Given the description of an element on the screen output the (x, y) to click on. 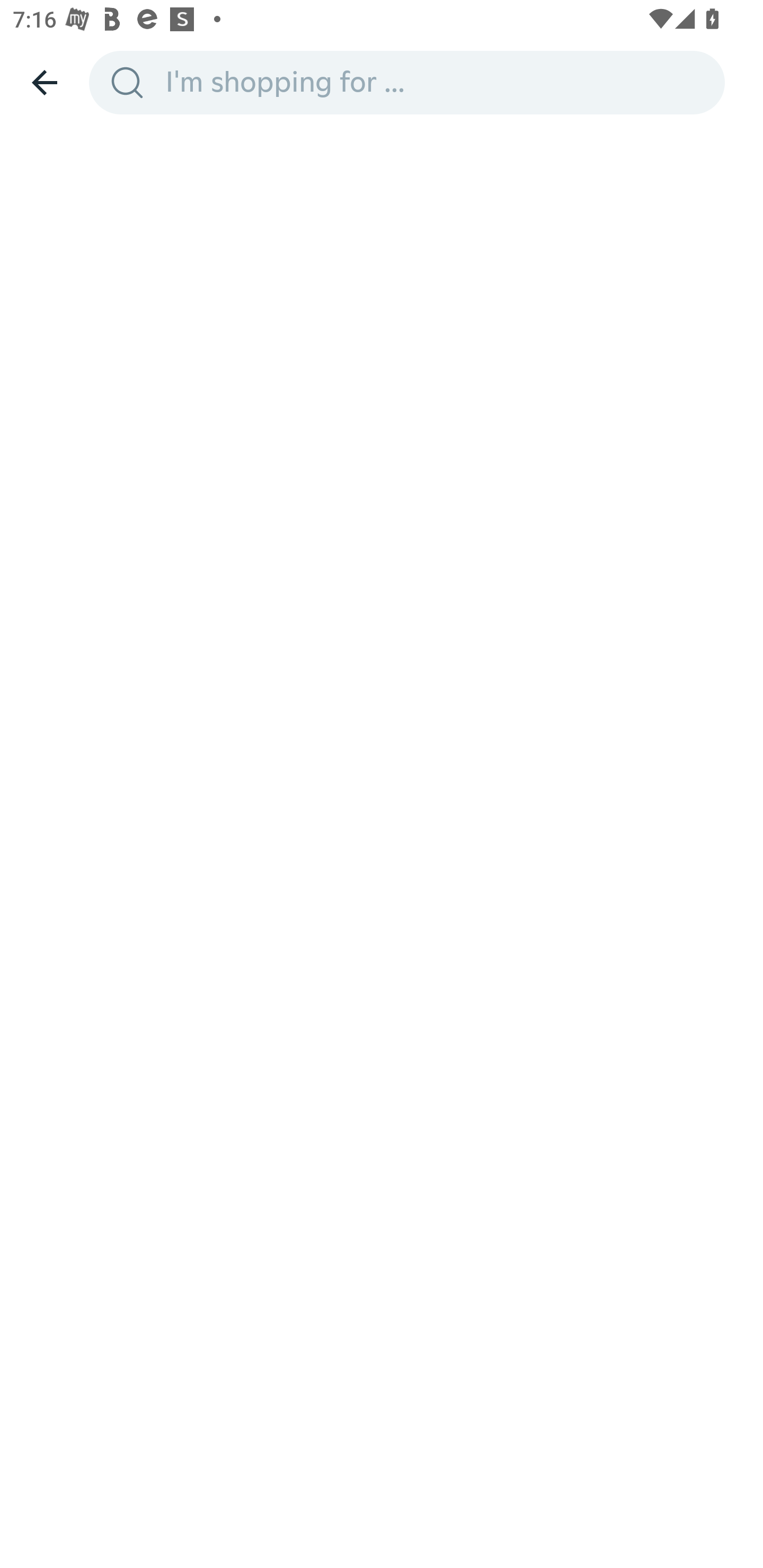
Navigate up (44, 82)
I'm shopping for ... (438, 81)
